Given the description of an element on the screen output the (x, y) to click on. 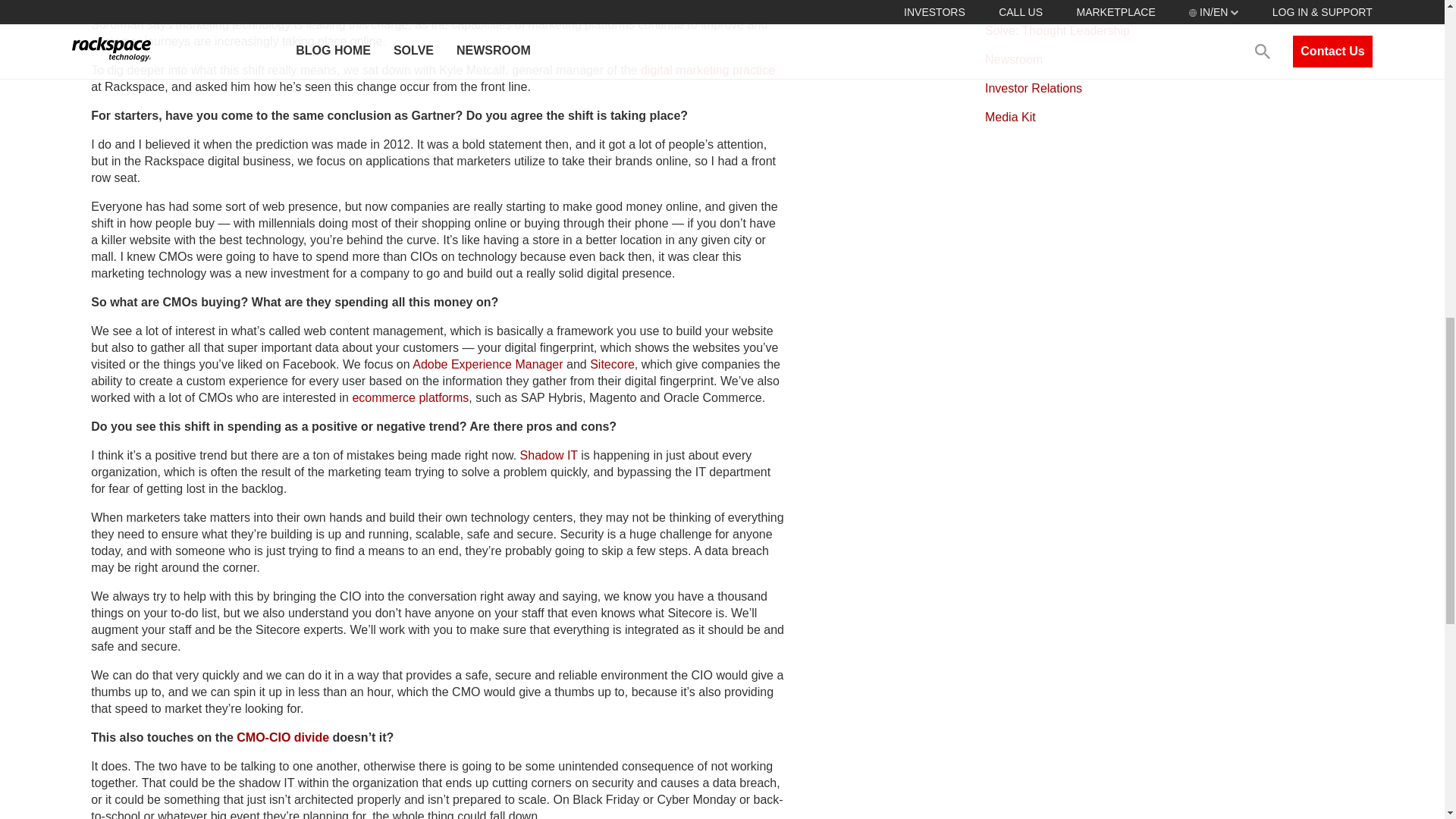
Blog Home (1015, 4)
Sitecore (611, 364)
Shadow IT (548, 454)
ecommerce platforms (410, 397)
Newsroom (1013, 59)
Adobe Experience Manager (487, 364)
Solve: Thought Leadership (1057, 30)
CMO-CIO divide (282, 737)
digital marketing practice (707, 69)
